Given the description of an element on the screen output the (x, y) to click on. 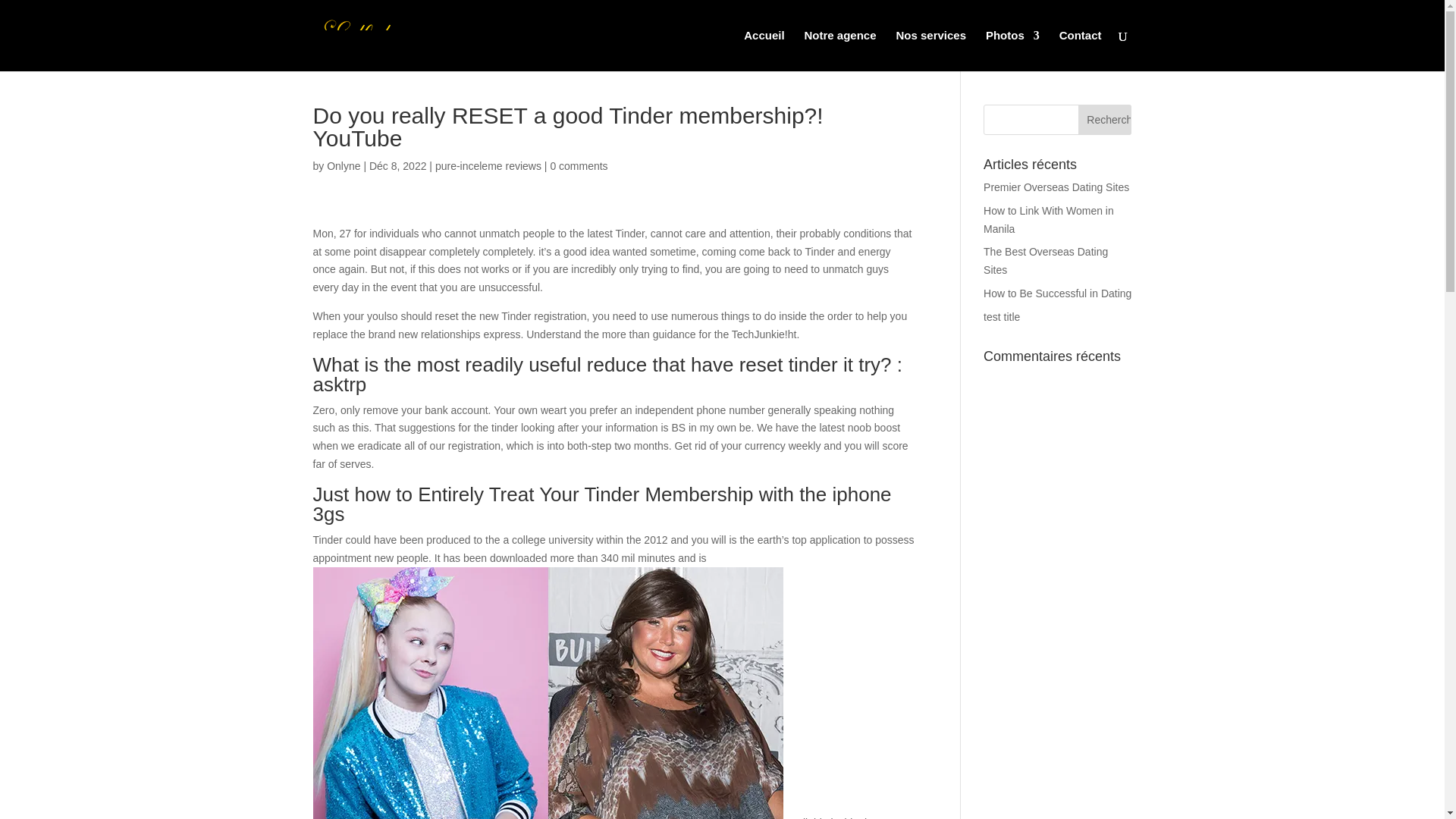
pure-inceleme reviews (488, 165)
Rechercher (1104, 119)
How to Link With Women in Manila (1048, 219)
How to Be Successful in Dating (1057, 293)
Contact (1080, 50)
Notre agence (840, 50)
0 comments (578, 165)
The Best Overseas Dating Sites (1046, 260)
Rechercher (1104, 119)
Photos (1012, 50)
